Given the description of an element on the screen output the (x, y) to click on. 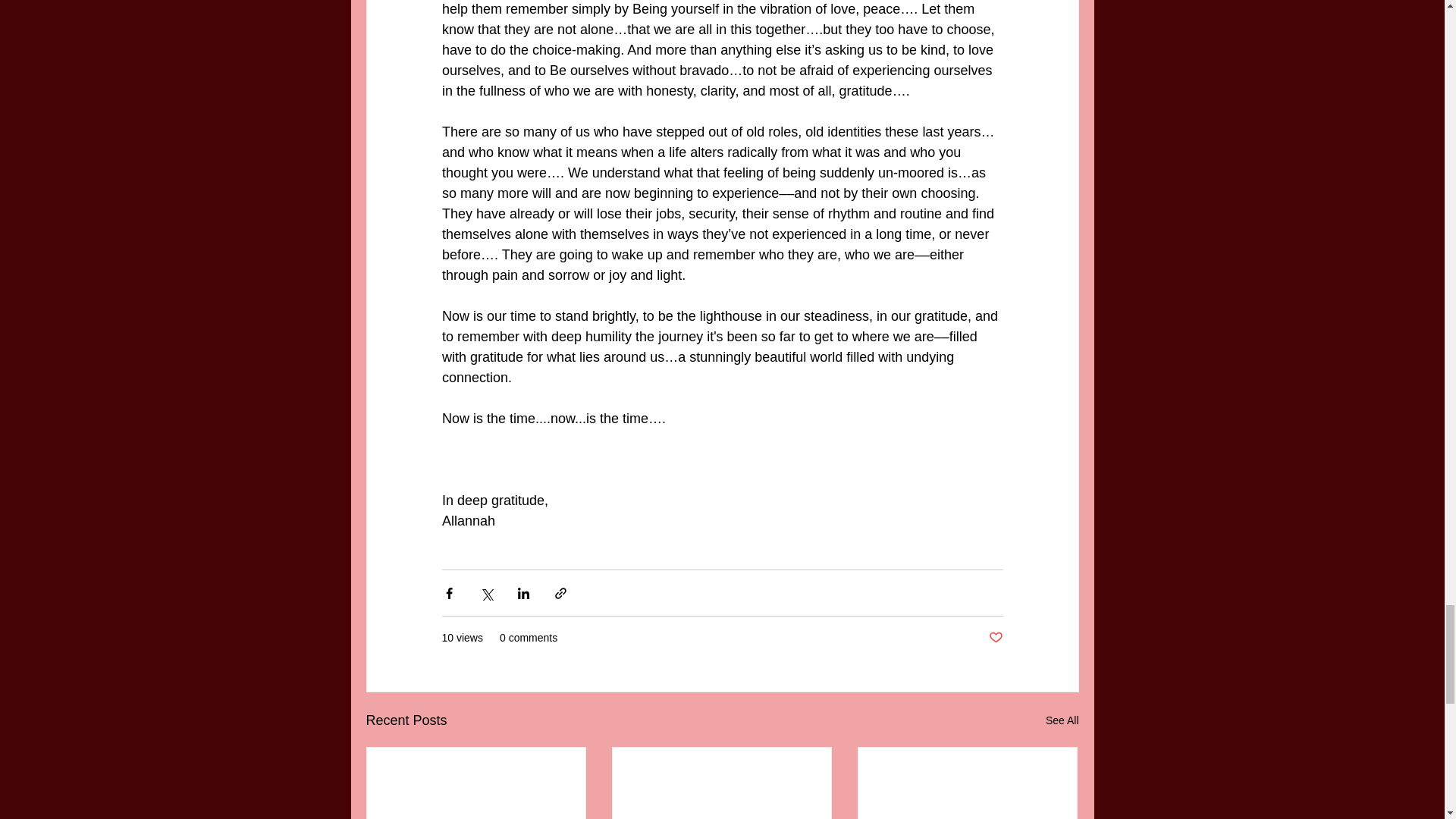
Post not marked as liked (995, 637)
See All (1061, 721)
